Given the description of an element on the screen output the (x, y) to click on. 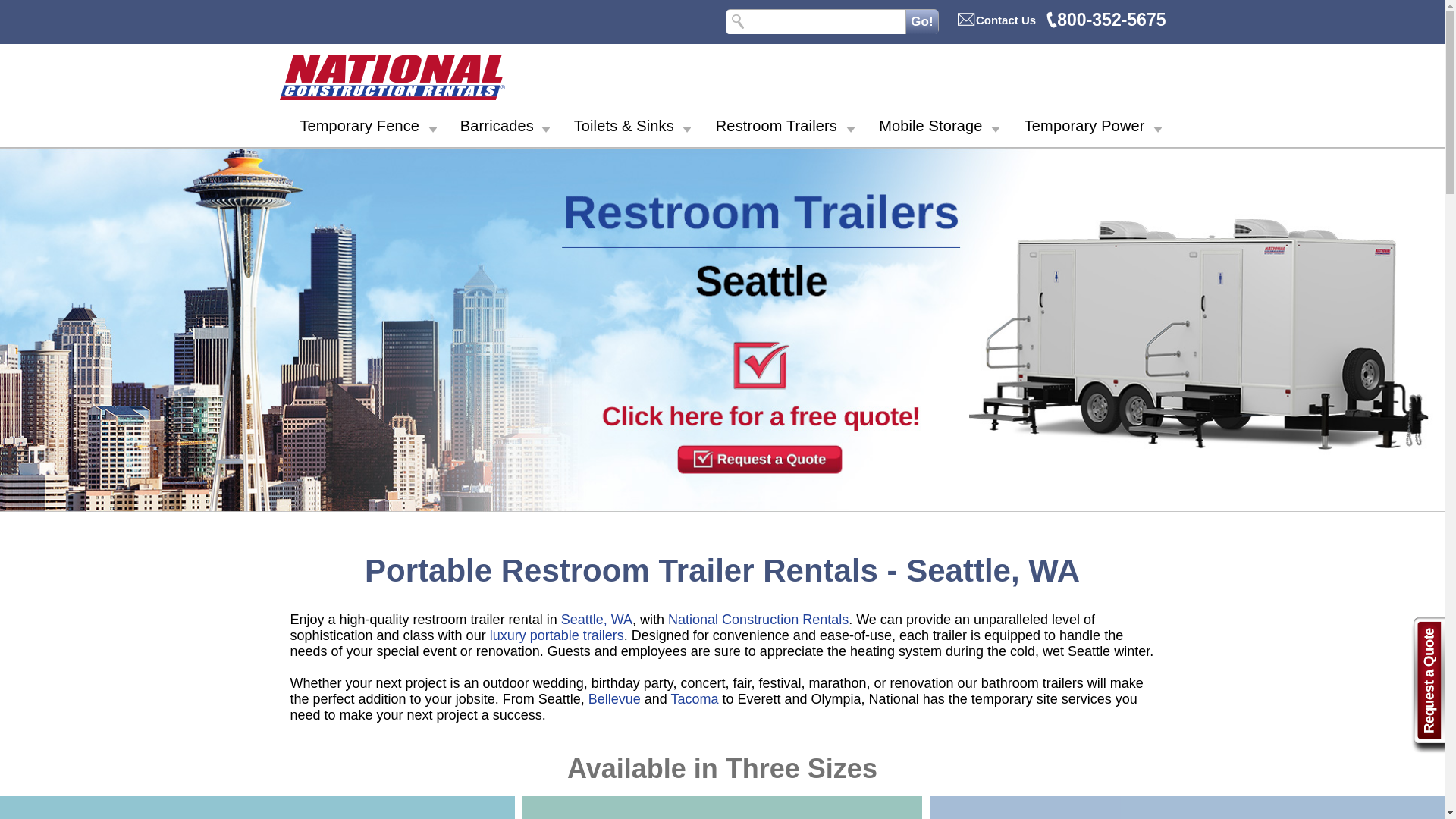
800-352-5675 (1106, 19)
Search (921, 21)
Contact Us (996, 19)
Barricades (497, 129)
Search (921, 21)
Temporary Fence (360, 129)
